Given the description of an element on the screen output the (x, y) to click on. 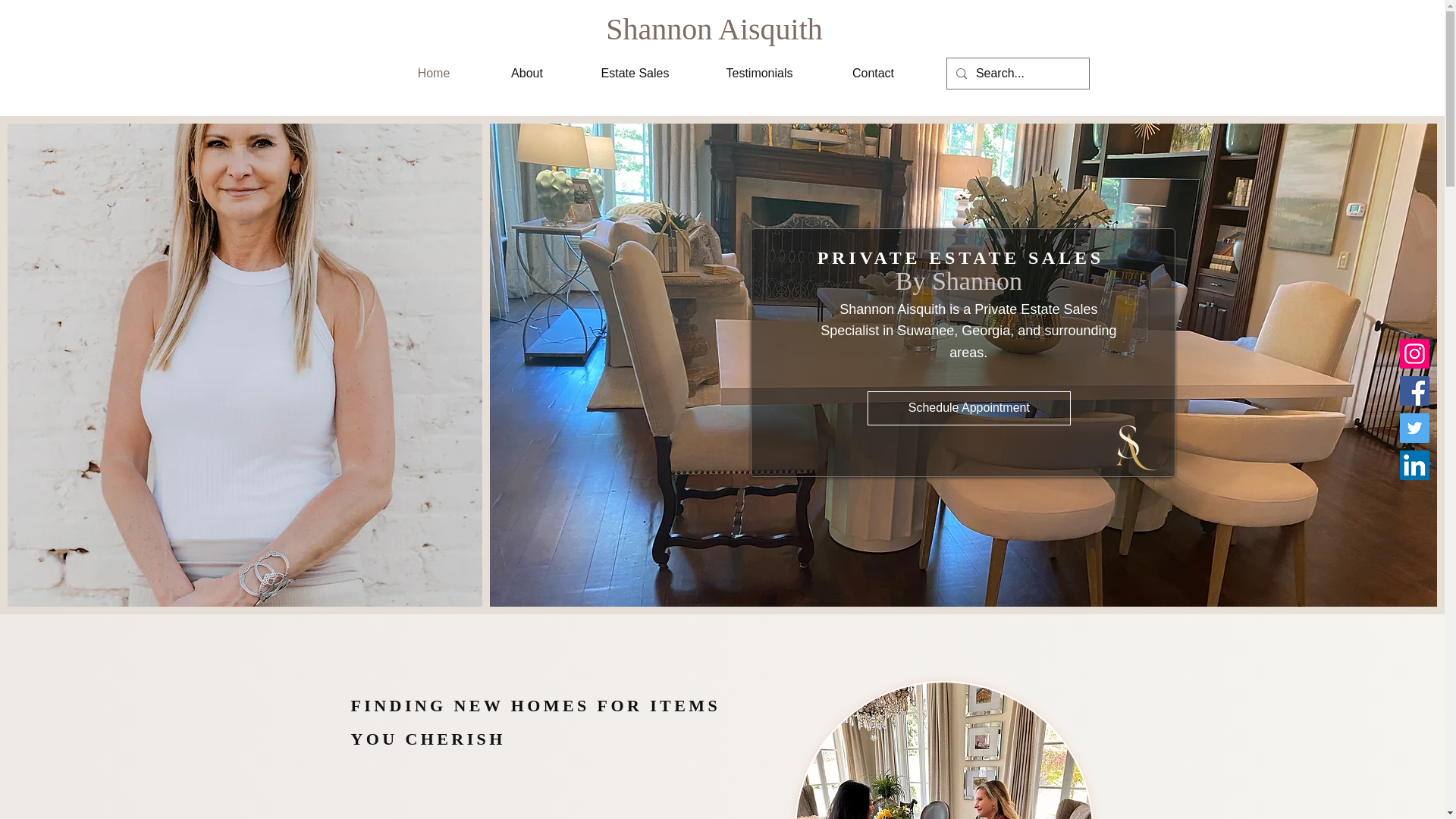
Schedule Appointment (968, 408)
Contact (872, 73)
Testimonials (758, 73)
Home (433, 73)
About (526, 73)
Estate Sales (634, 73)
